Given the description of an element on the screen output the (x, y) to click on. 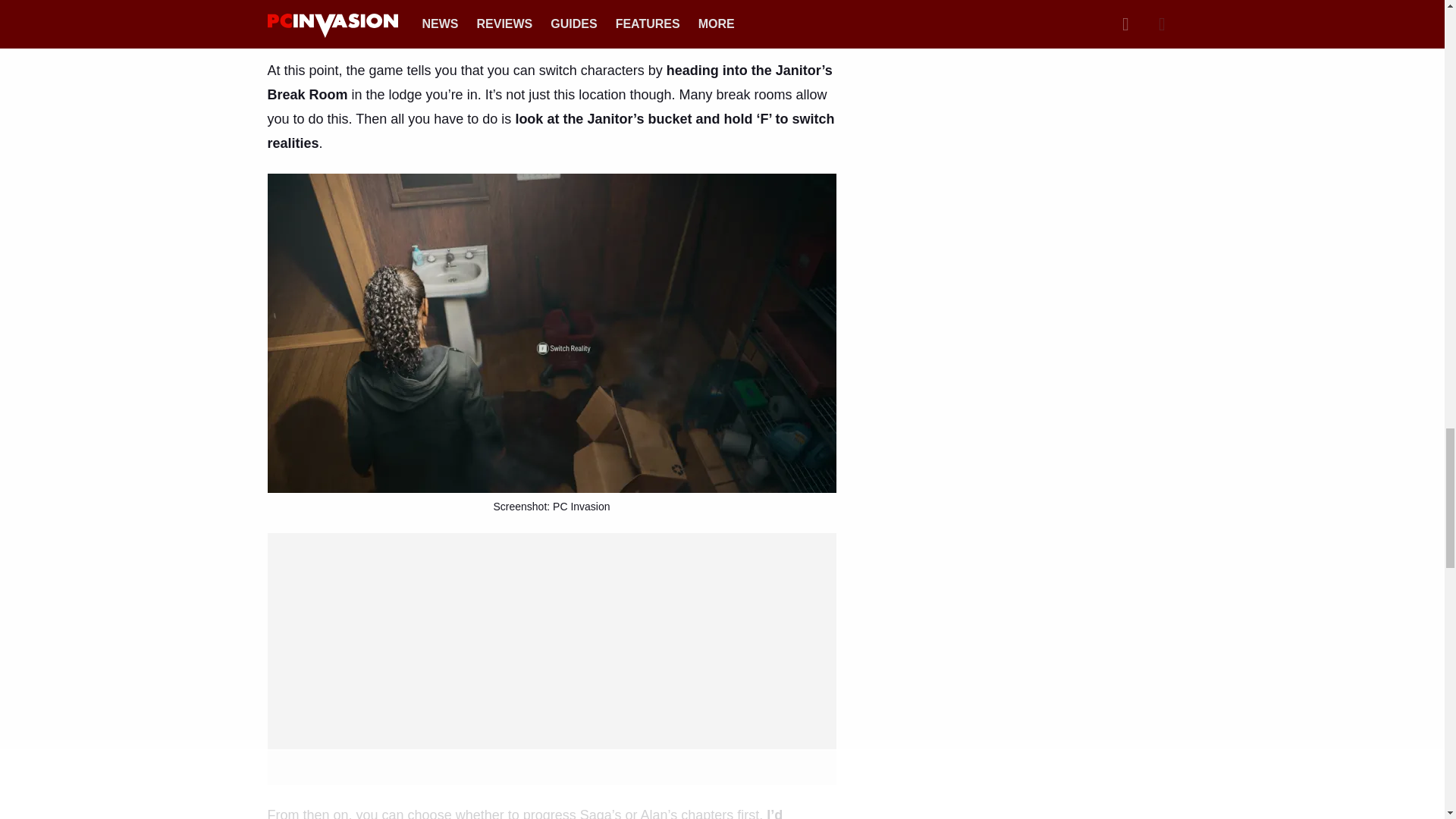
How to get the Crossbow in Alan Wake 2 (448, 28)
